Given the description of an element on the screen output the (x, y) to click on. 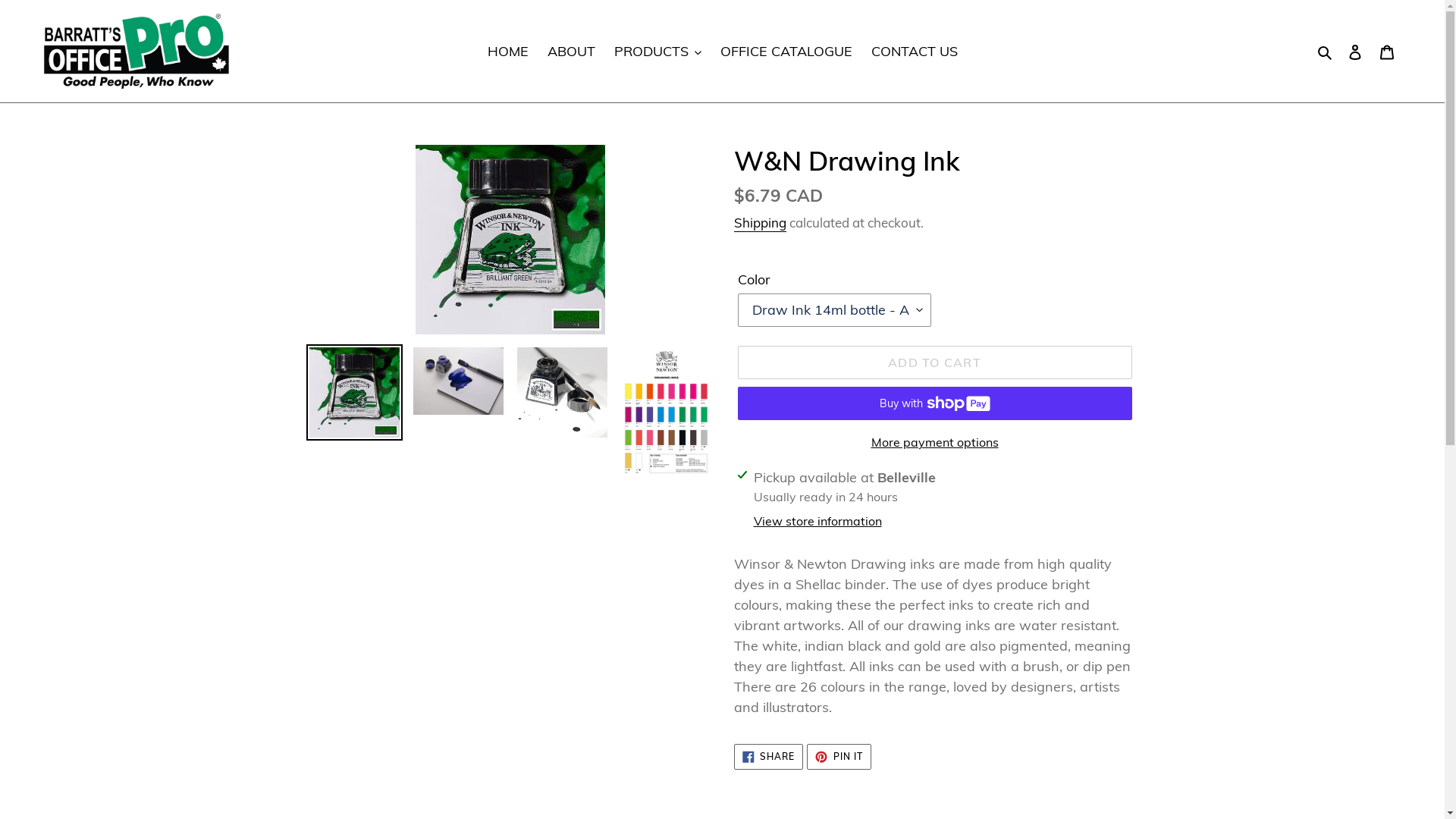
ABOUT Element type: text (570, 50)
Cart Element type: text (1386, 51)
More payment options Element type: text (934, 441)
HOME Element type: text (507, 50)
SHARE
SHARE ON FACEBOOK Element type: text (768, 756)
View store information Element type: text (817, 520)
PIN IT
PIN ON PINTEREST Element type: text (838, 756)
CONTACT US Element type: text (913, 50)
Shipping Element type: text (760, 223)
ADD TO CART Element type: text (934, 362)
Search Element type: text (1325, 51)
PRODUCTS Element type: text (657, 50)
OFFICE CATALOGUE Element type: text (785, 50)
Log in Element type: text (1355, 51)
